Given the description of an element on the screen output the (x, y) to click on. 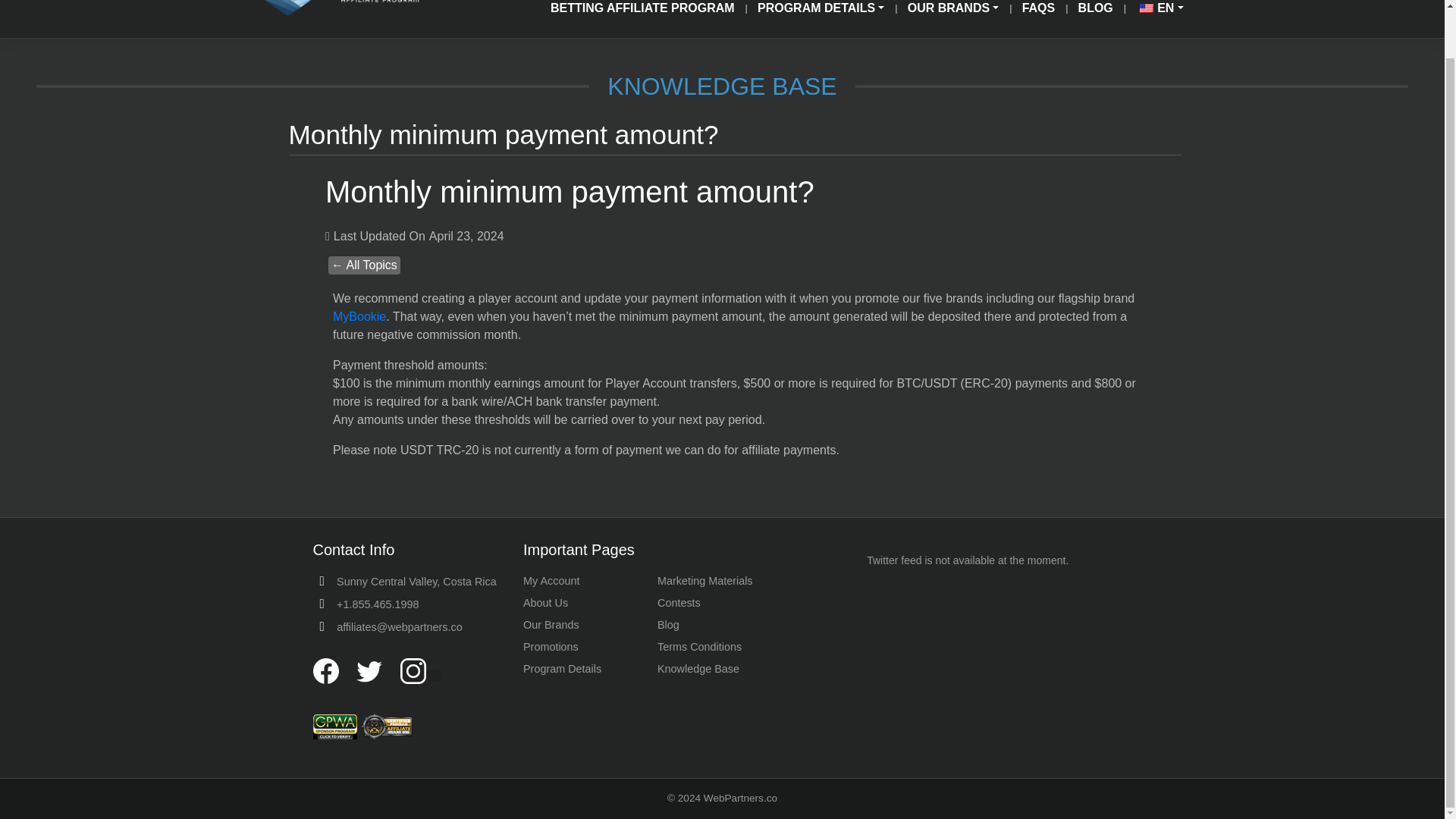
Program Details (816, 11)
EN (1154, 11)
PROGRAM DETAILS (816, 11)
BETTING AFFILIATE PROGRAM (637, 11)
FAQS (1032, 11)
Betting Affiliate Program (637, 11)
EN (1154, 11)
Our Brands (946, 11)
BLOG (1090, 11)
Blog (1090, 11)
OUR BRANDS (946, 11)
English (1146, 8)
FAQs (1032, 11)
